Given the description of an element on the screen output the (x, y) to click on. 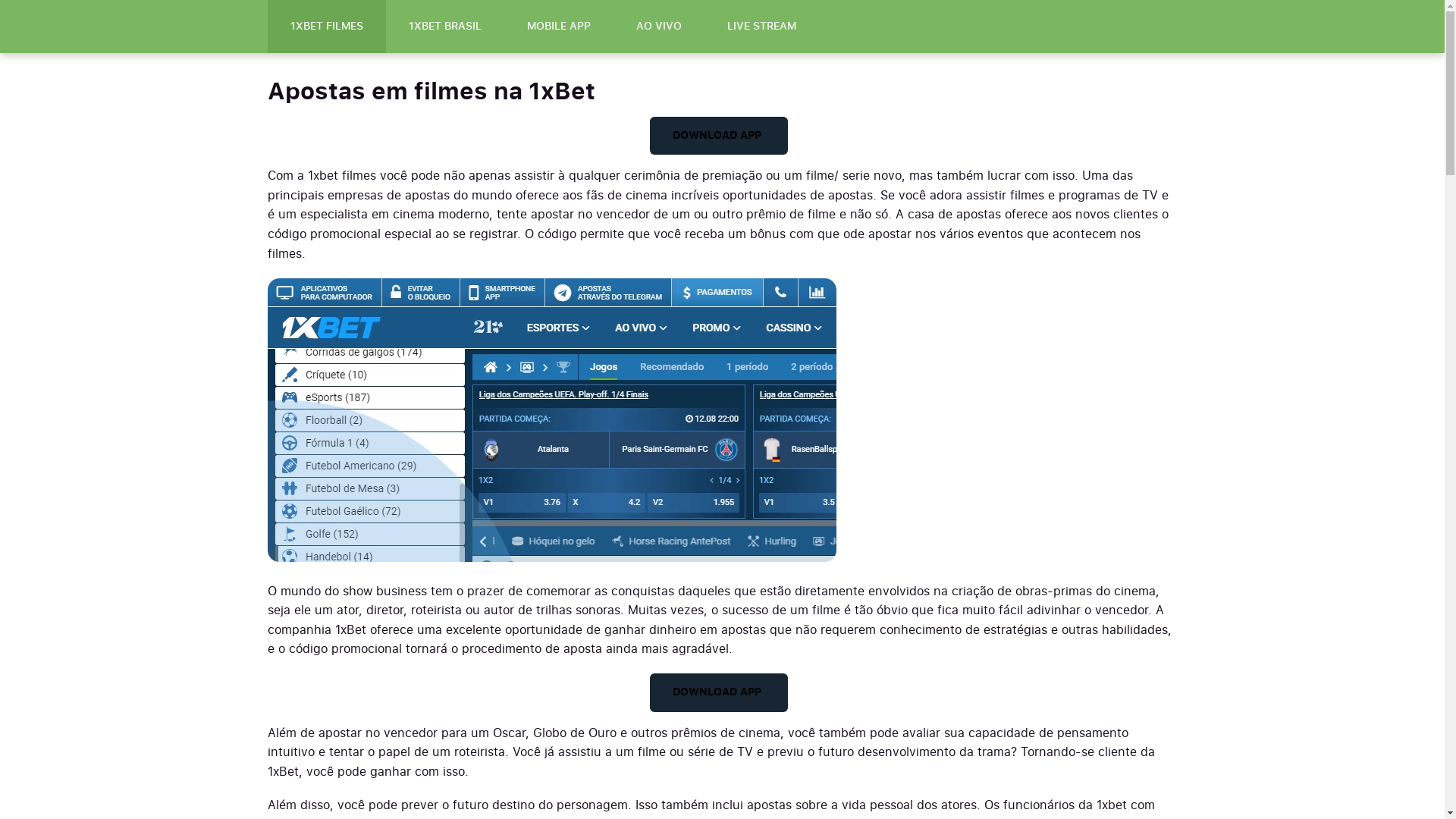
MOBILE APP Element type: text (557, 26)
1XBET BRASIL Element type: text (444, 26)
LIVE STREAM Element type: text (760, 26)
AO VIVO Element type: text (657, 26)
